Given the description of an element on the screen output the (x, y) to click on. 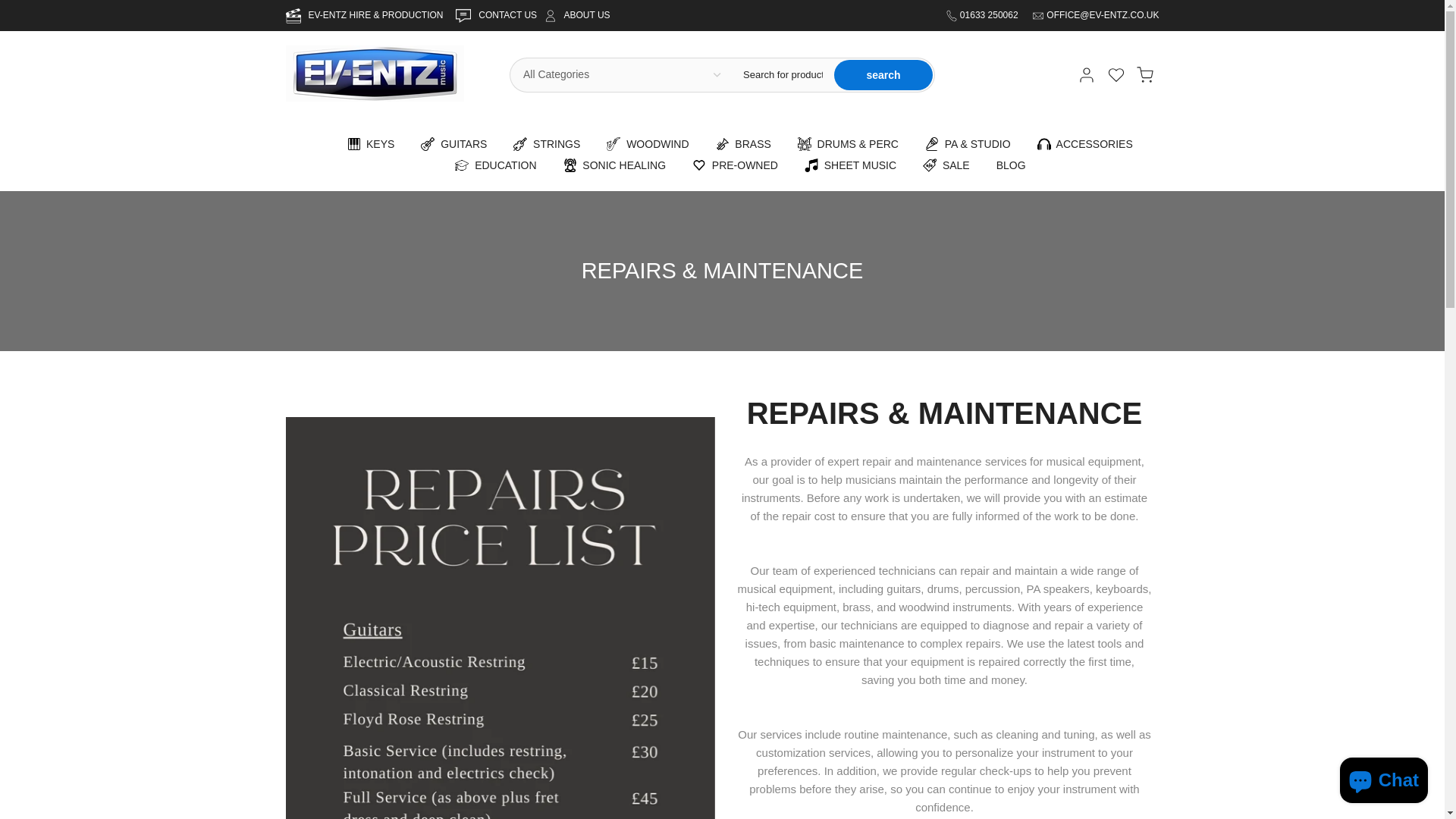
CONTACT US (508, 15)
  SHEET MUSIC (849, 165)
  STRINGS (547, 143)
  SONIC HEALING (614, 165)
  WOODWIND (647, 143)
  BRASS (742, 143)
  GUITARS (453, 143)
  PRE-OWNED (735, 165)
01633 250062 (989, 15)
Skip to content (10, 7)
